Given the description of an element on the screen output the (x, y) to click on. 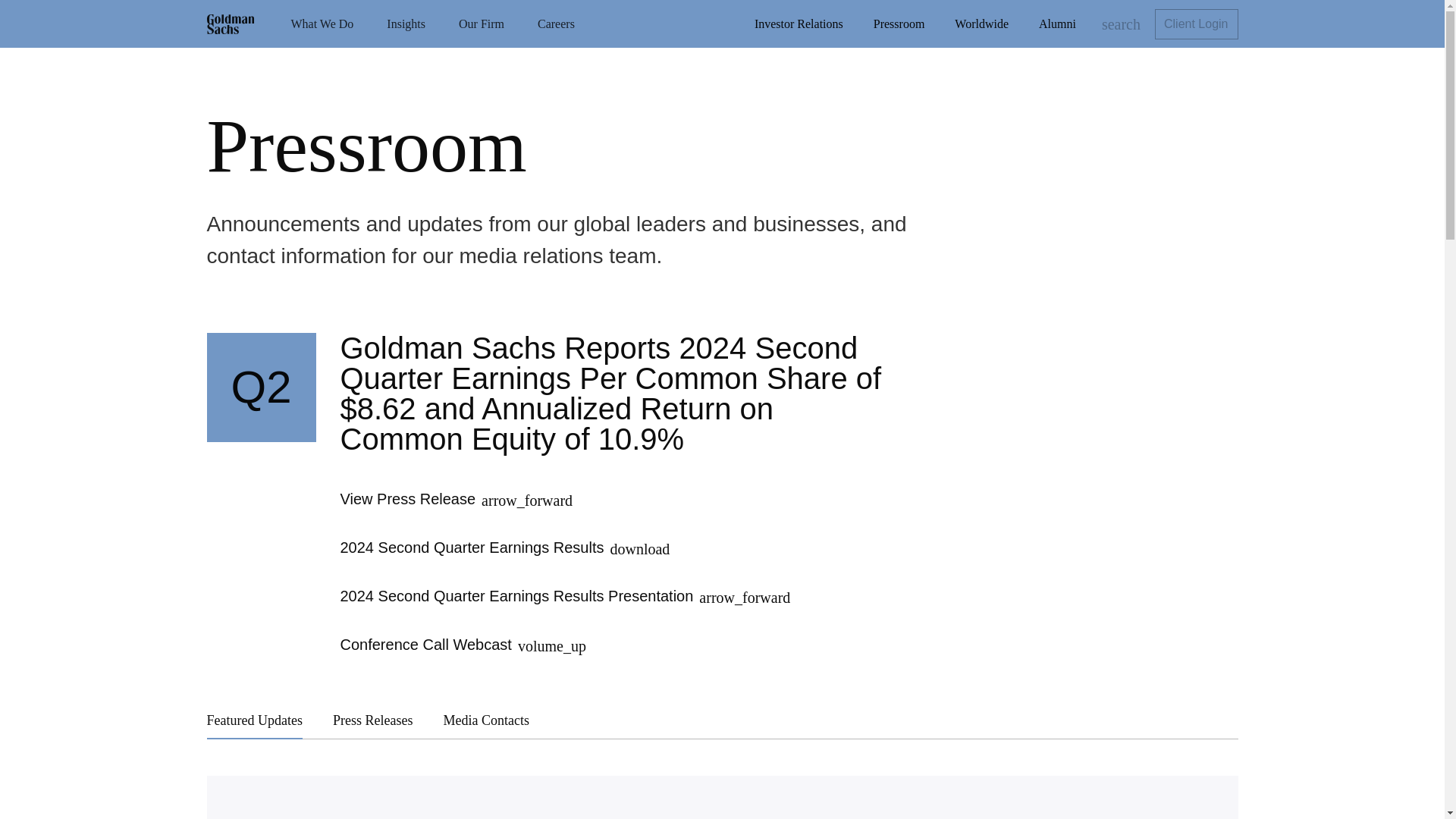
Alumni (1057, 23)
Media Contacts (485, 719)
Client Login (1196, 24)
Our Firm (481, 23)
Worldwide (982, 23)
Featured Updates (253, 720)
Insights (406, 23)
Investor Relations (798, 23)
Pressroom (898, 23)
Press Releases (372, 719)
